Given the description of an element on the screen output the (x, y) to click on. 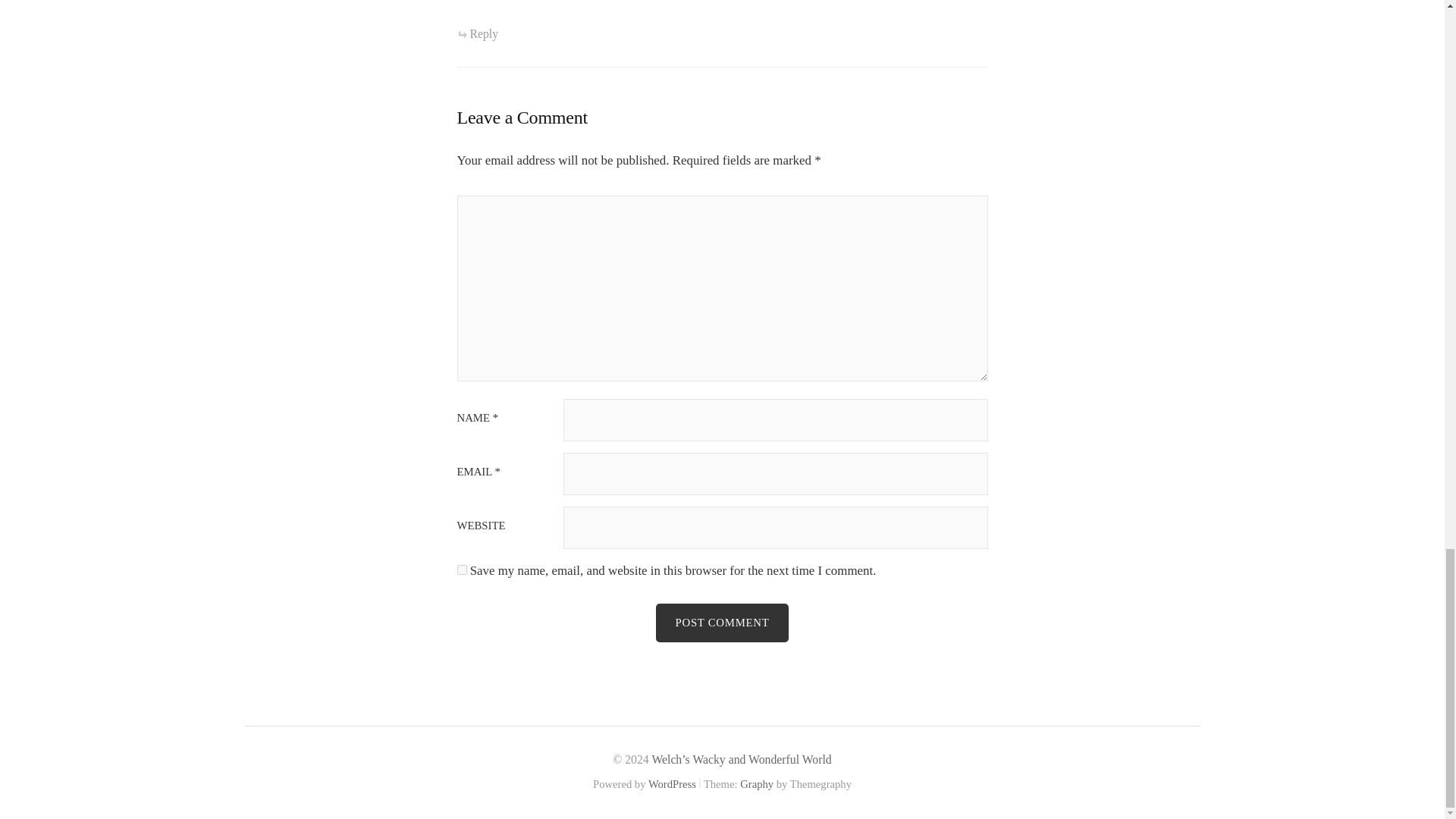
Post Comment (721, 622)
Reply (477, 33)
Post Comment (721, 622)
WordPress (671, 784)
Graphy (756, 784)
yes (461, 569)
